Given the description of an element on the screen output the (x, y) to click on. 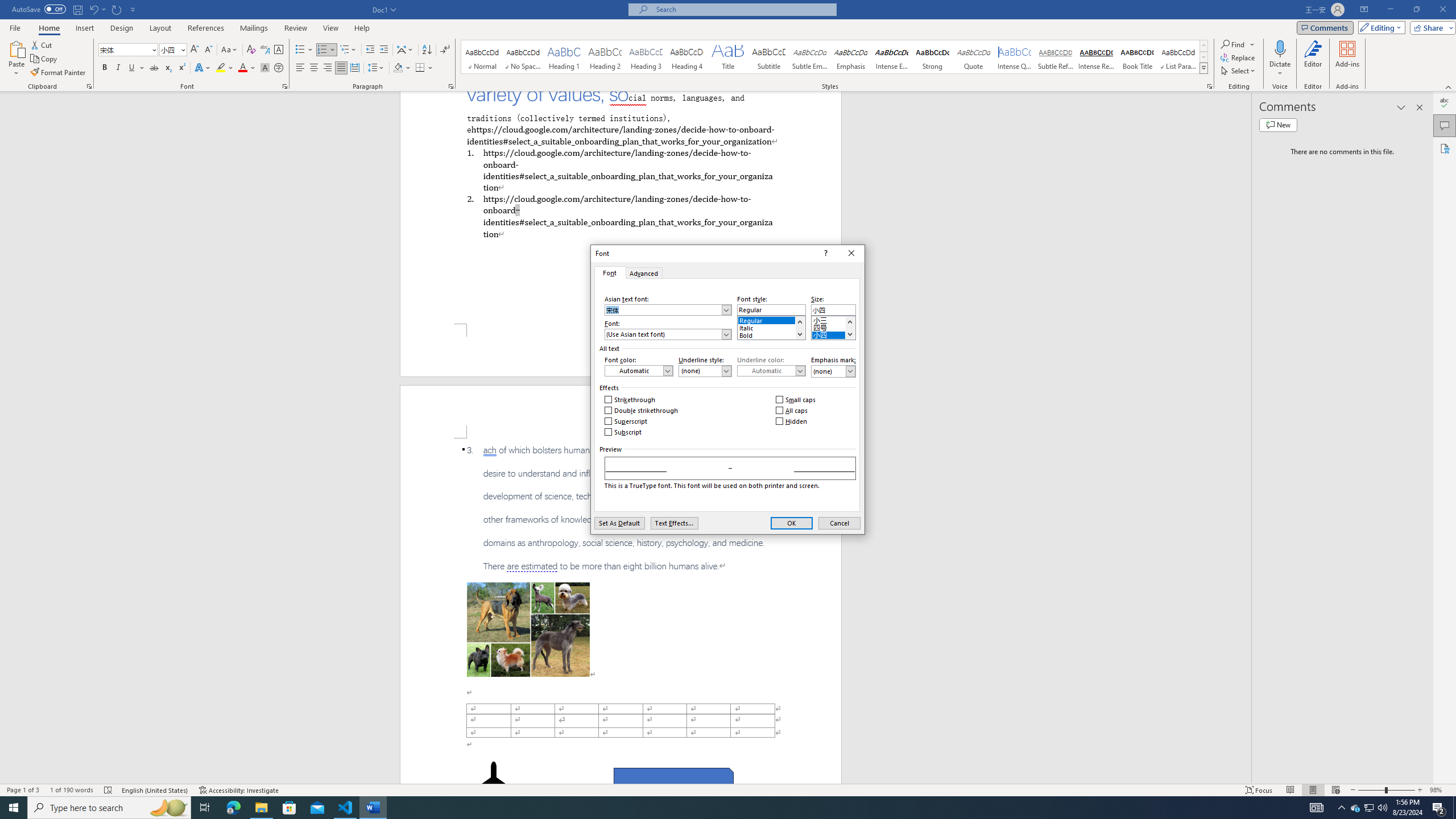
Quick Access Toolbar (74, 9)
Change Case (229, 49)
Font Size (172, 49)
More Options (1280, 68)
Character Border (278, 49)
Paste (16, 48)
Row up (1203, 45)
Line down (849, 334)
View (330, 28)
Help (361, 28)
System (6, 6)
Copy (1355, 807)
System (45, 58)
